Given the description of an element on the screen output the (x, y) to click on. 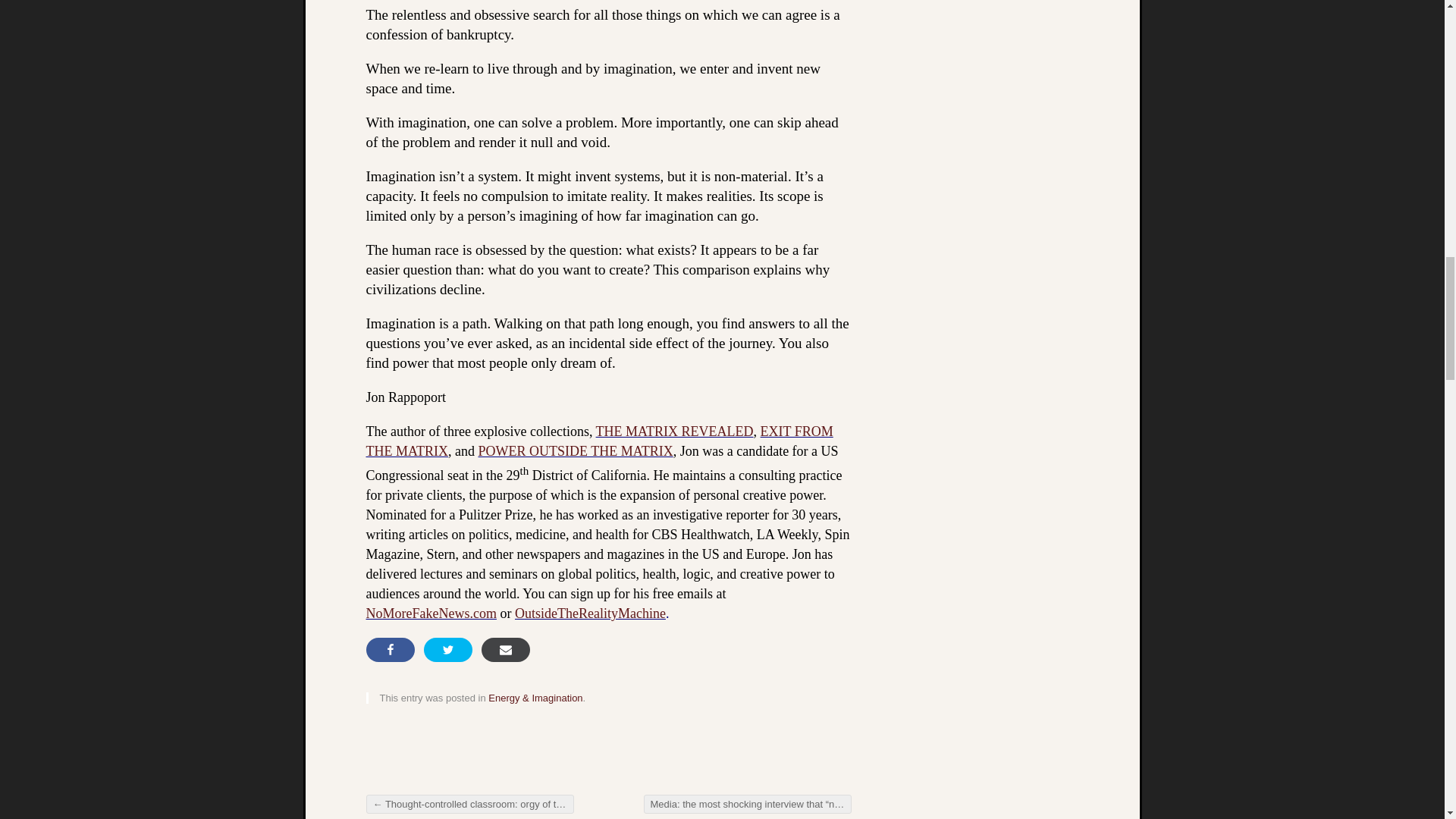
THE MATRIX REVEALED (674, 431)
Share via Email (504, 649)
Share on Twitter (447, 649)
OutsideTheRealityMachine (590, 613)
Share on Facebook (389, 649)
EXIT FROM THE MATRIX (598, 441)
POWER OUTSIDE THE MATRIX (574, 450)
NoMoreFakeNews.com (430, 613)
